Given the description of an element on the screen output the (x, y) to click on. 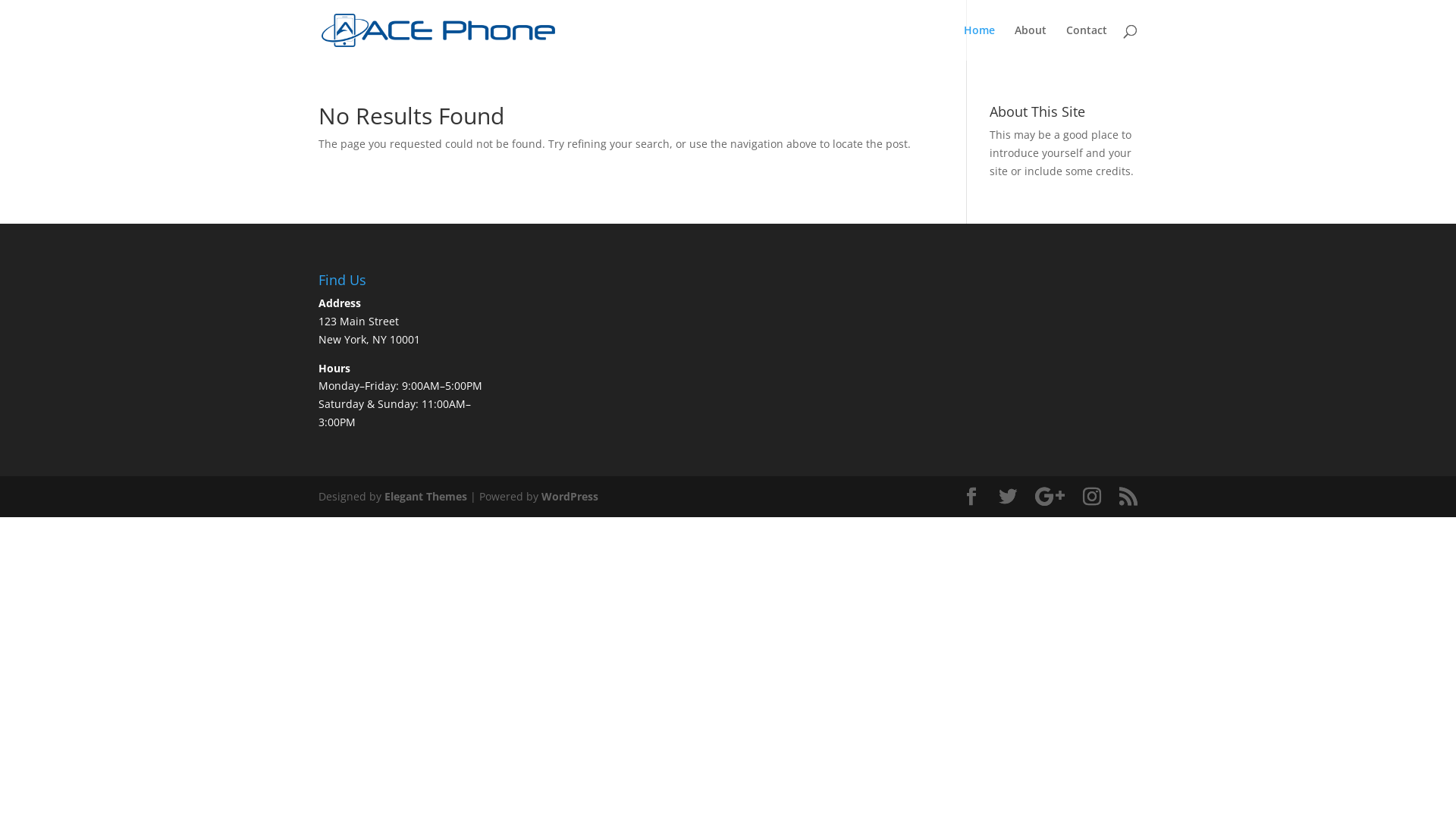
About Element type: text (1030, 42)
Contact Element type: text (1086, 42)
WordPress Element type: text (569, 496)
Home Element type: text (978, 42)
Elegant Themes Element type: text (425, 496)
